Given the description of an element on the screen output the (x, y) to click on. 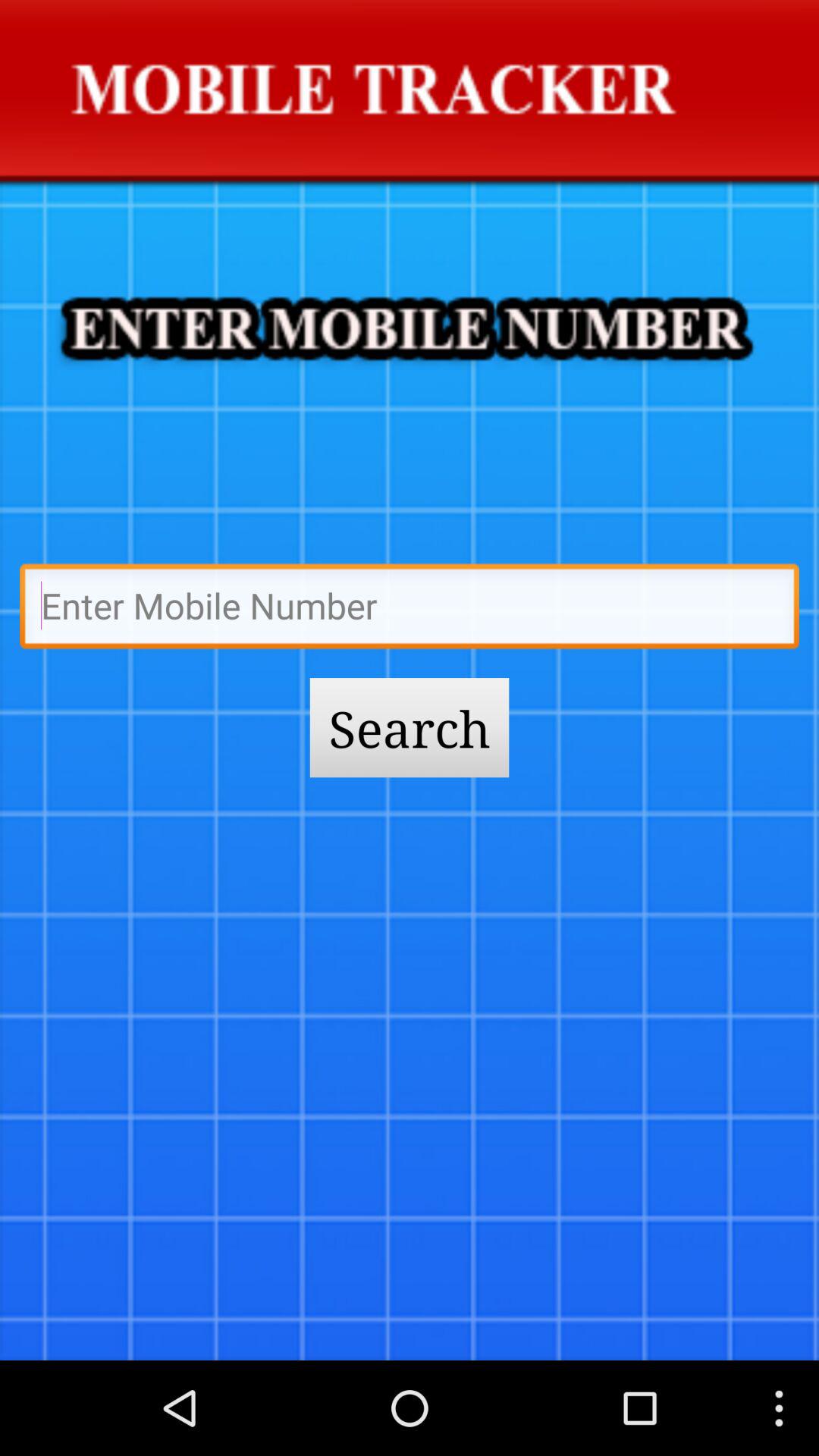
mobile number field (409, 610)
